Given the description of an element on the screen output the (x, y) to click on. 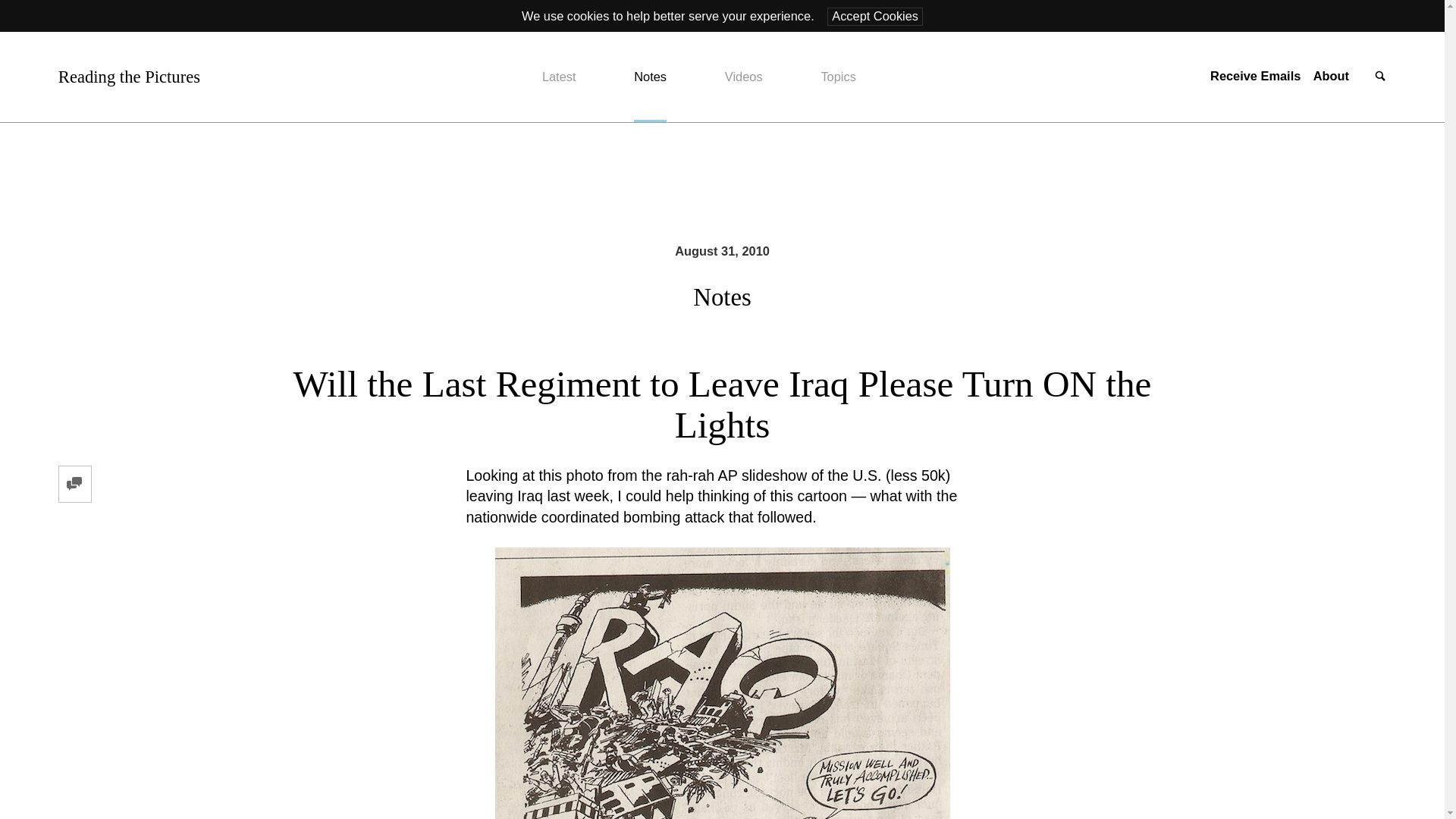
About (1331, 75)
Reading the Pictures (129, 76)
Accept Cookies (875, 16)
search (1380, 78)
About (1331, 75)
Newsletter Signup (1254, 75)
Receive Emails (1254, 75)
Schrank (722, 683)
Reading the Pictures (129, 76)
